Given the description of an element on the screen output the (x, y) to click on. 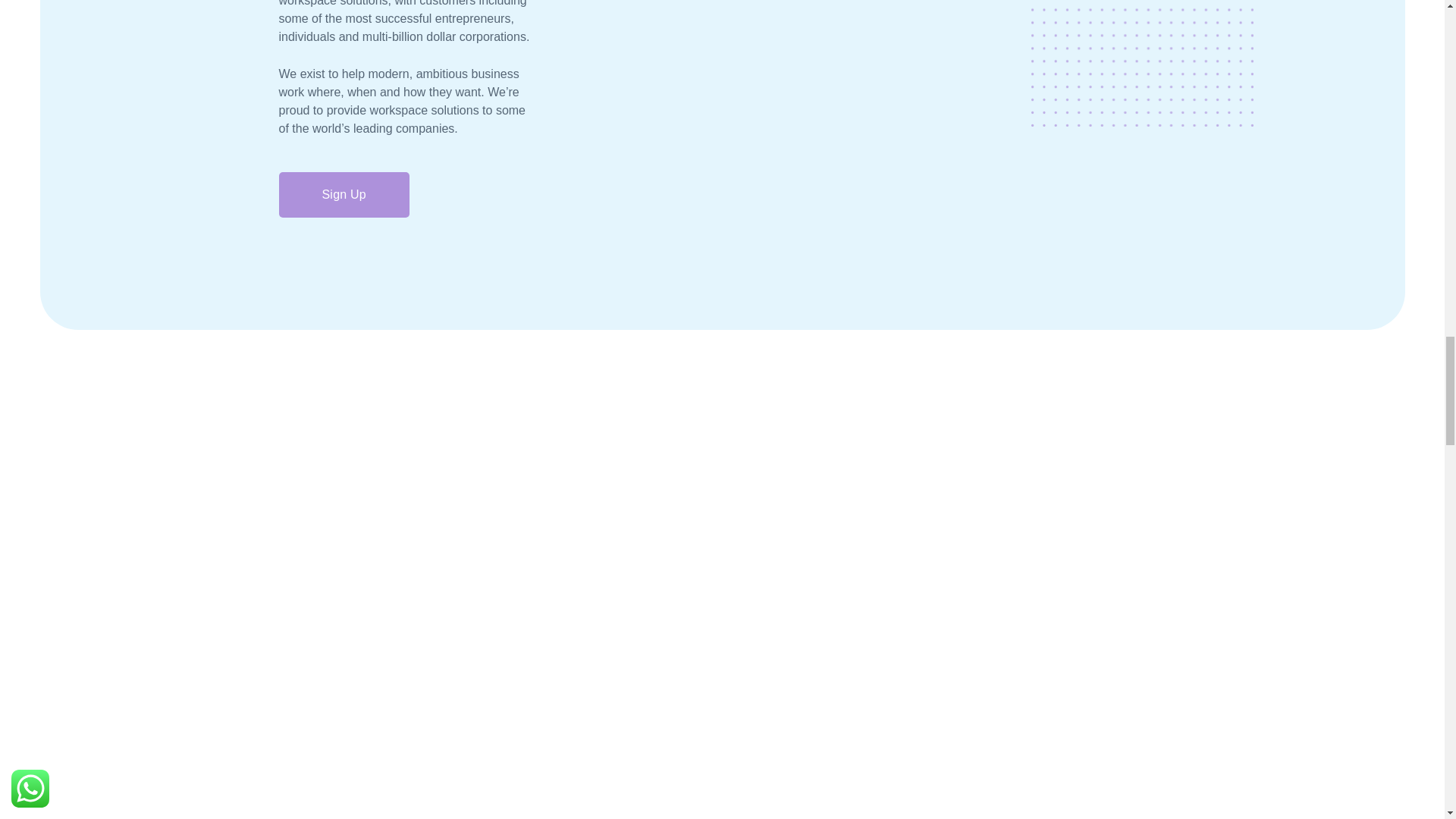
Sign Up (344, 194)
